Given the description of an element on the screen output the (x, y) to click on. 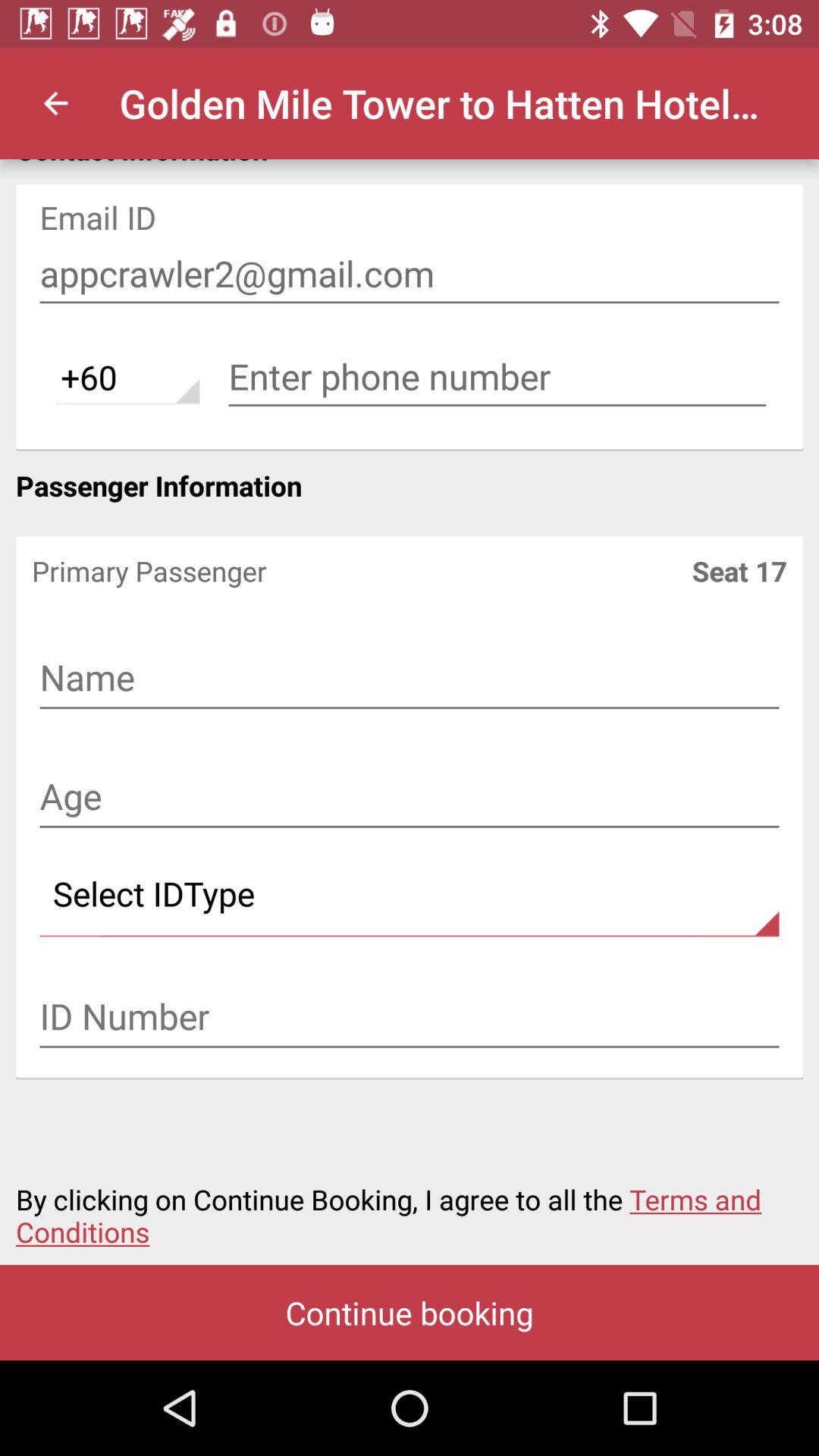
type in name (409, 679)
